Given the description of an element on the screen output the (x, y) to click on. 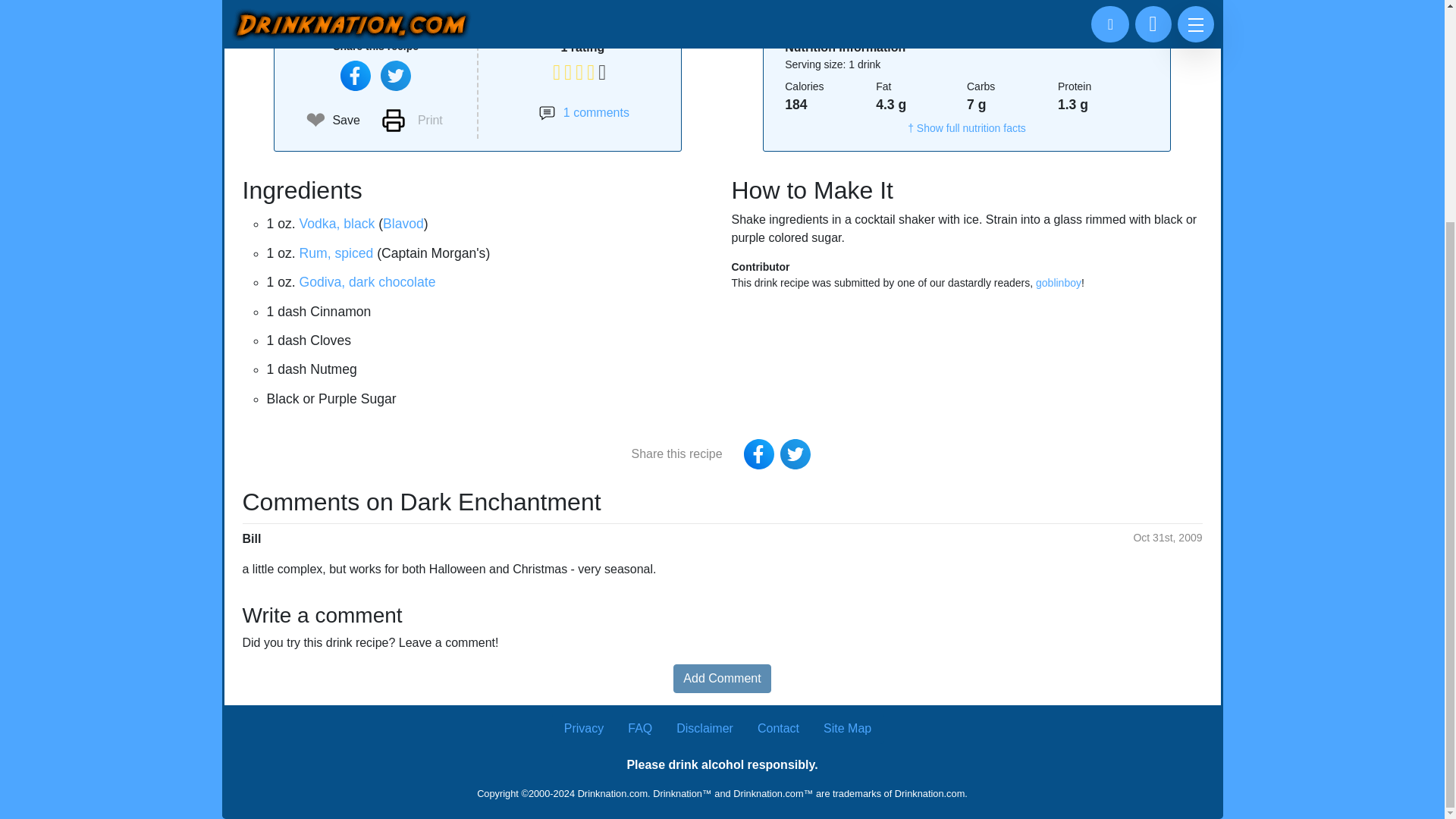
Site Map (847, 727)
Vodka, black (337, 223)
FAQ (639, 727)
Print (411, 120)
4 stars (582, 47)
Rum, spiced (336, 253)
Blavod (402, 223)
Privacy (584, 727)
1 comments (583, 113)
Disclaimer (705, 727)
Add Comment (721, 678)
Godiva, dark chocolate (367, 281)
Contact (778, 727)
goblinboy (1058, 282)
Advertisement (722, 7)
